Given the description of an element on the screen output the (x, y) to click on. 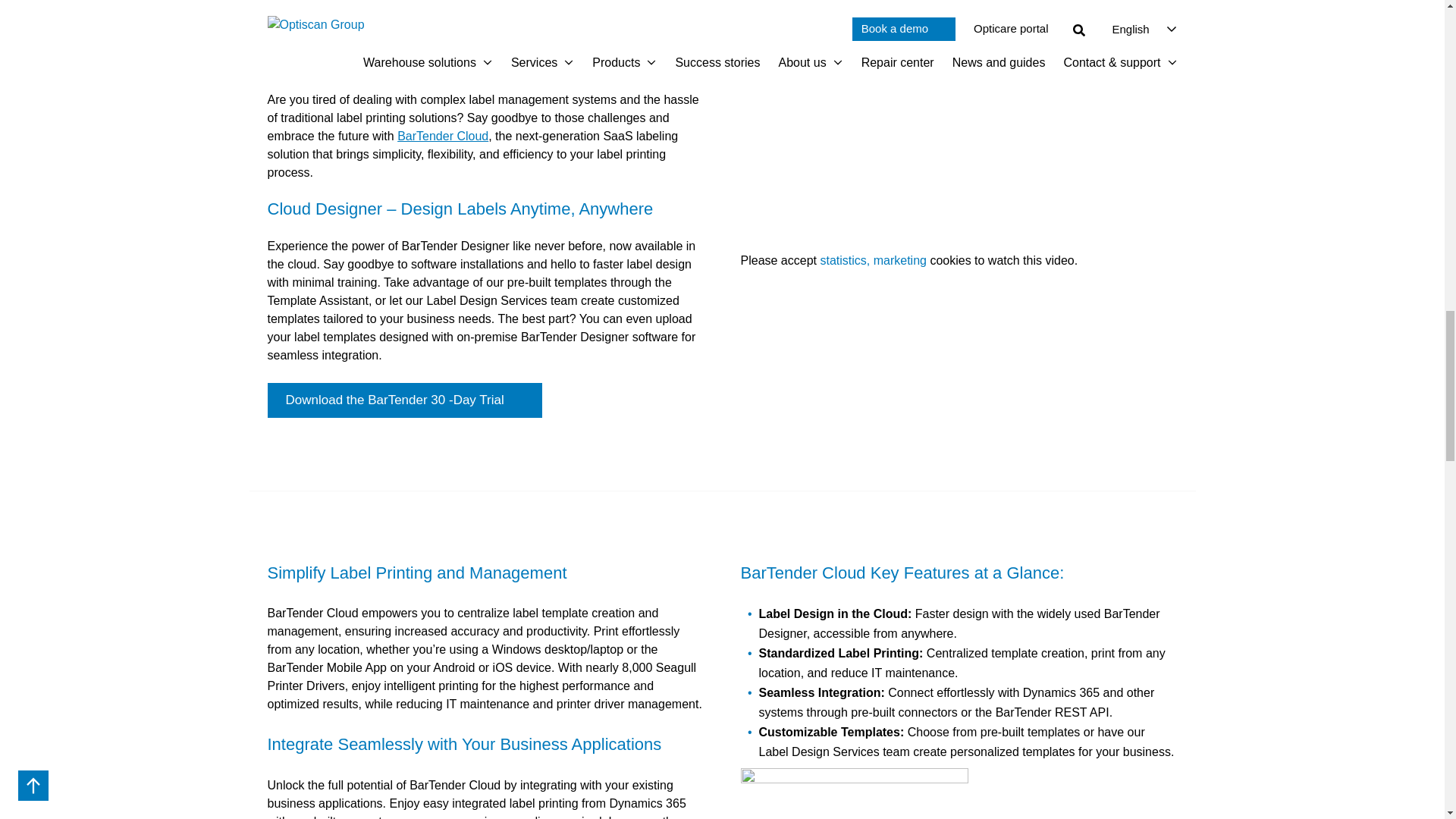
BarTender Cloud Designer (957, 137)
